Given the description of an element on the screen output the (x, y) to click on. 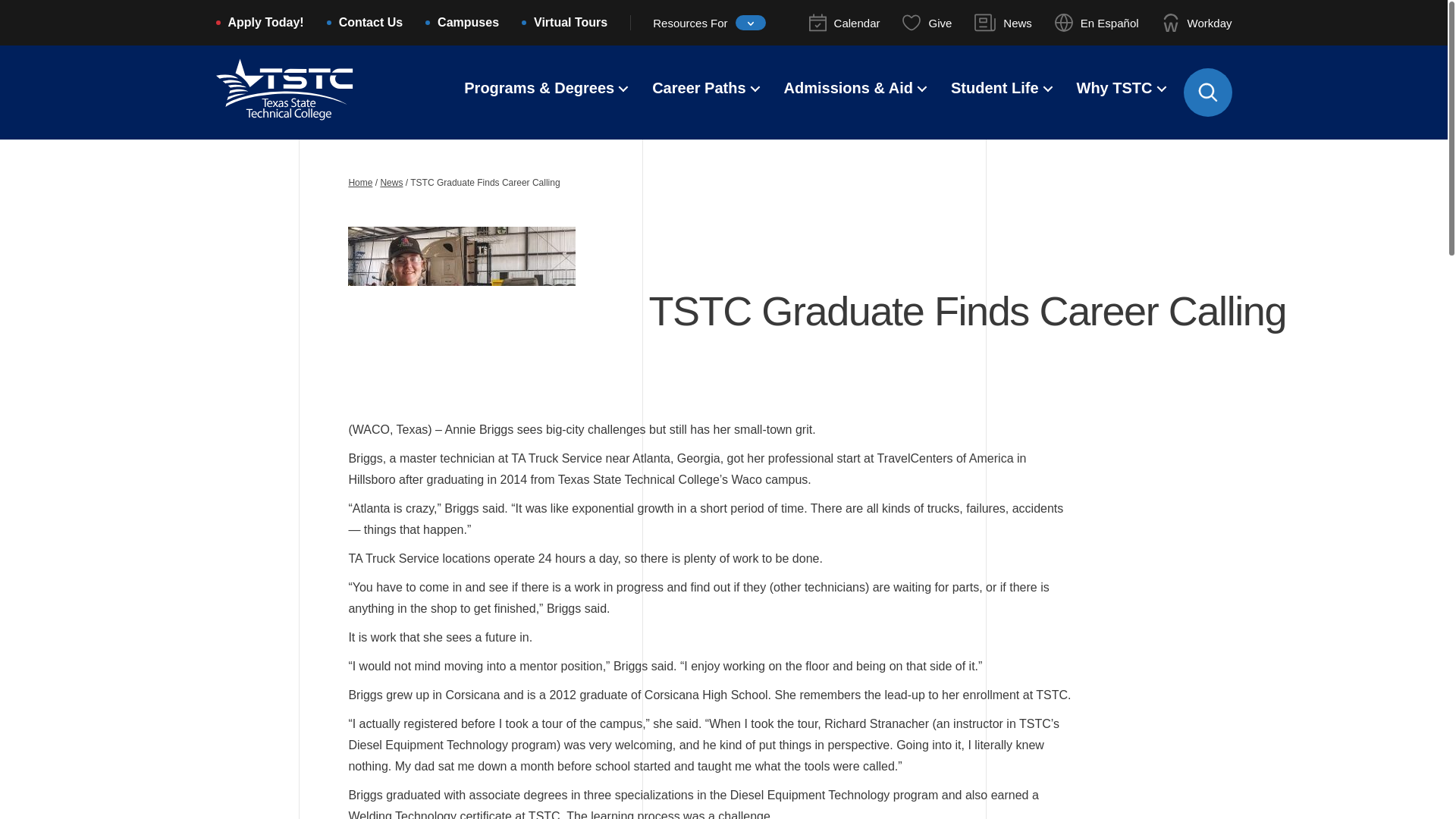
Go to TSTC. (359, 182)
Give (927, 22)
Apply Today! (264, 23)
TSTC Workday (1196, 22)
Link logo header (283, 115)
Virtual Tours (570, 23)
Contact Us (371, 23)
Go to the News archives. (391, 182)
Career Paths (698, 89)
Calendar (844, 22)
